Given the description of an element on the screen output the (x, y) to click on. 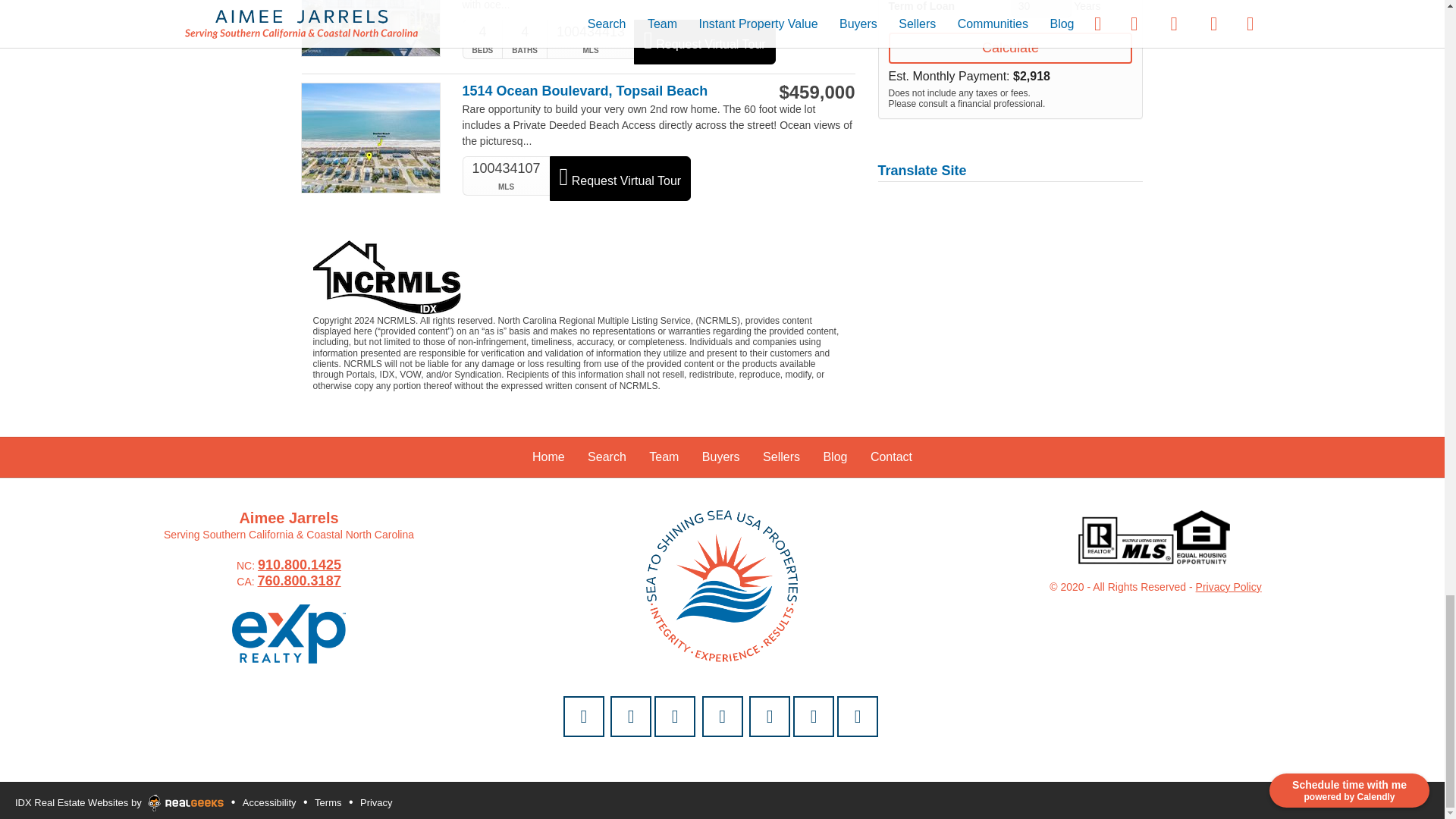
calendly (630, 716)
Contact (583, 716)
Aimee Jarrels (721, 585)
Facebook (674, 716)
linkedin (813, 716)
Twitter (769, 716)
Instagram (721, 716)
30 (1041, 8)
